Given the description of an element on the screen output the (x, y) to click on. 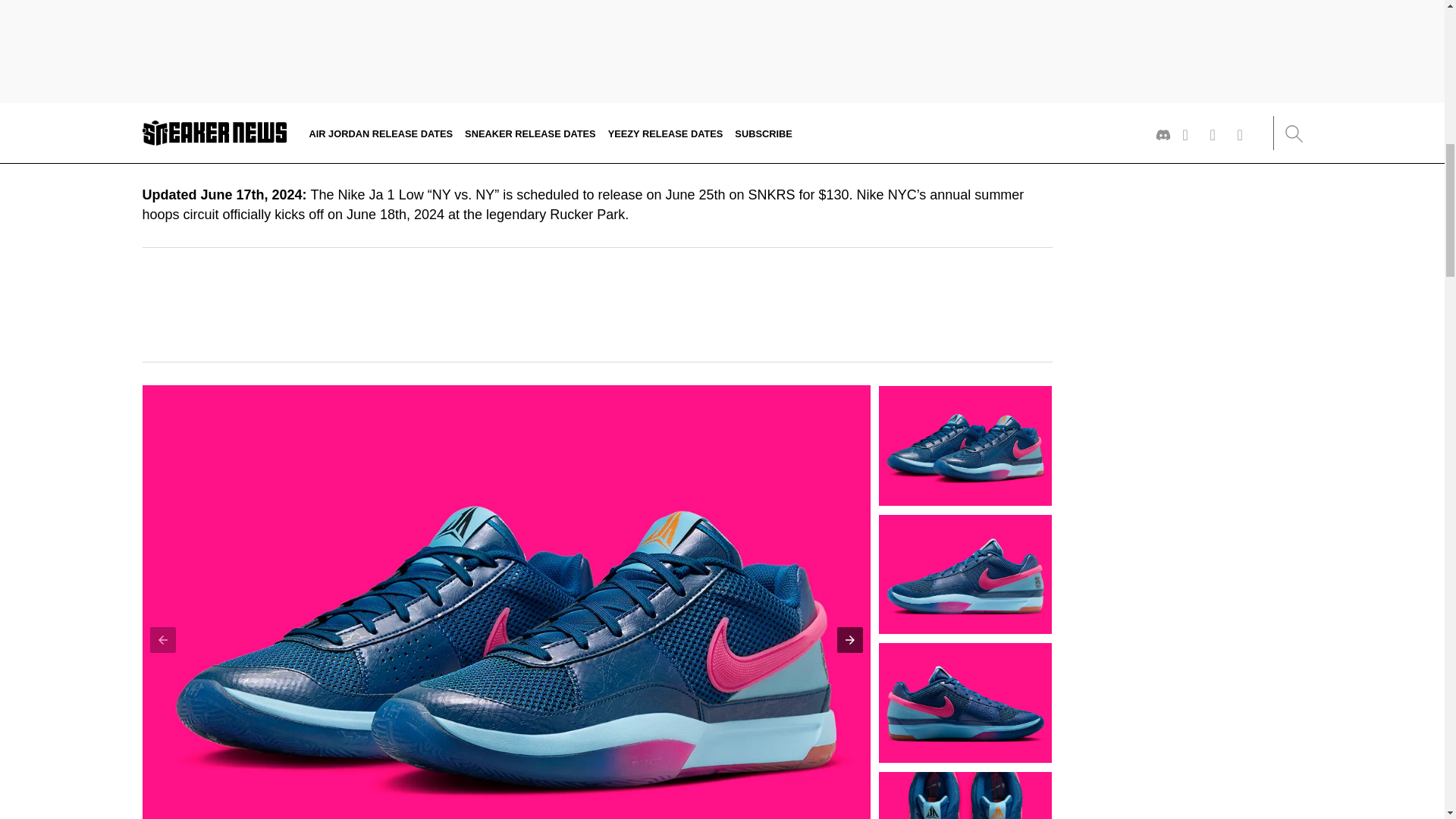
Next (850, 639)
3rd party ad content (597, 305)
Previous (162, 639)
3rd party ad content (721, 785)
Matt Varga (205, 128)
